Given the description of an element on the screen output the (x, y) to click on. 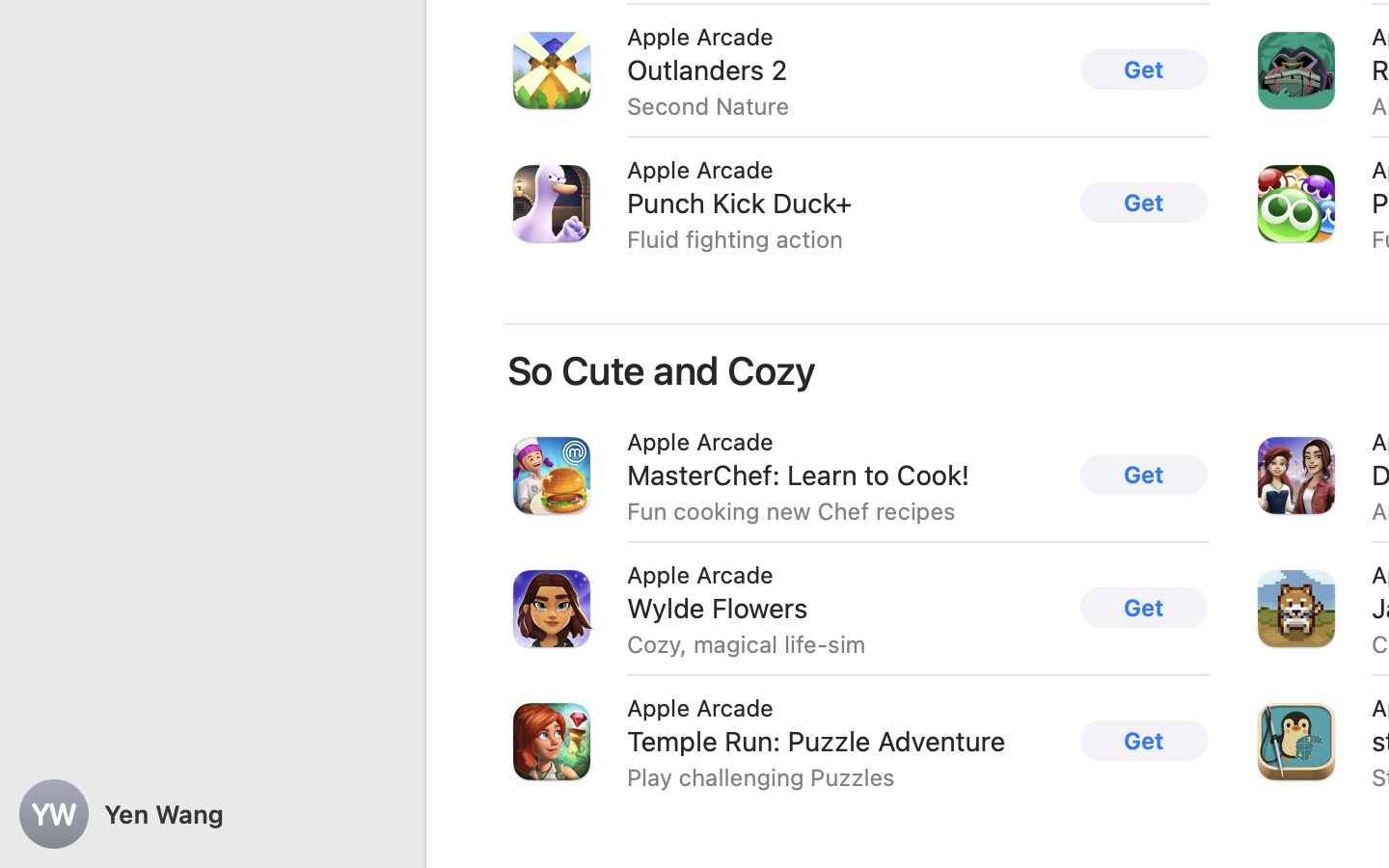
So Cute and Cozy Element type: AXStaticText (662, 370)
Yen Wang Element type: AXButton (212, 813)
